Given the description of an element on the screen output the (x, y) to click on. 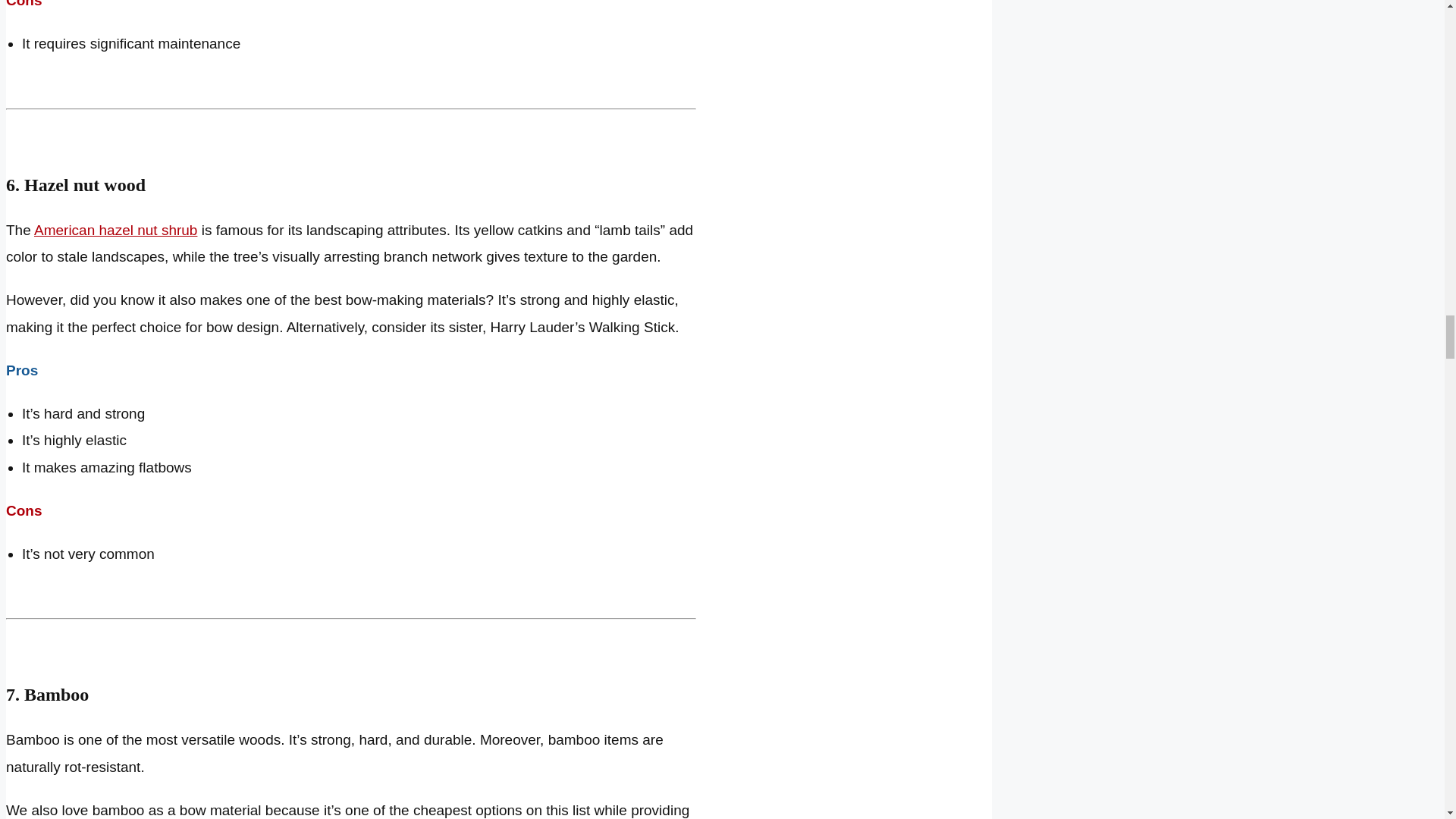
American hazel nut shrub (114, 229)
